Given the description of an element on the screen output the (x, y) to click on. 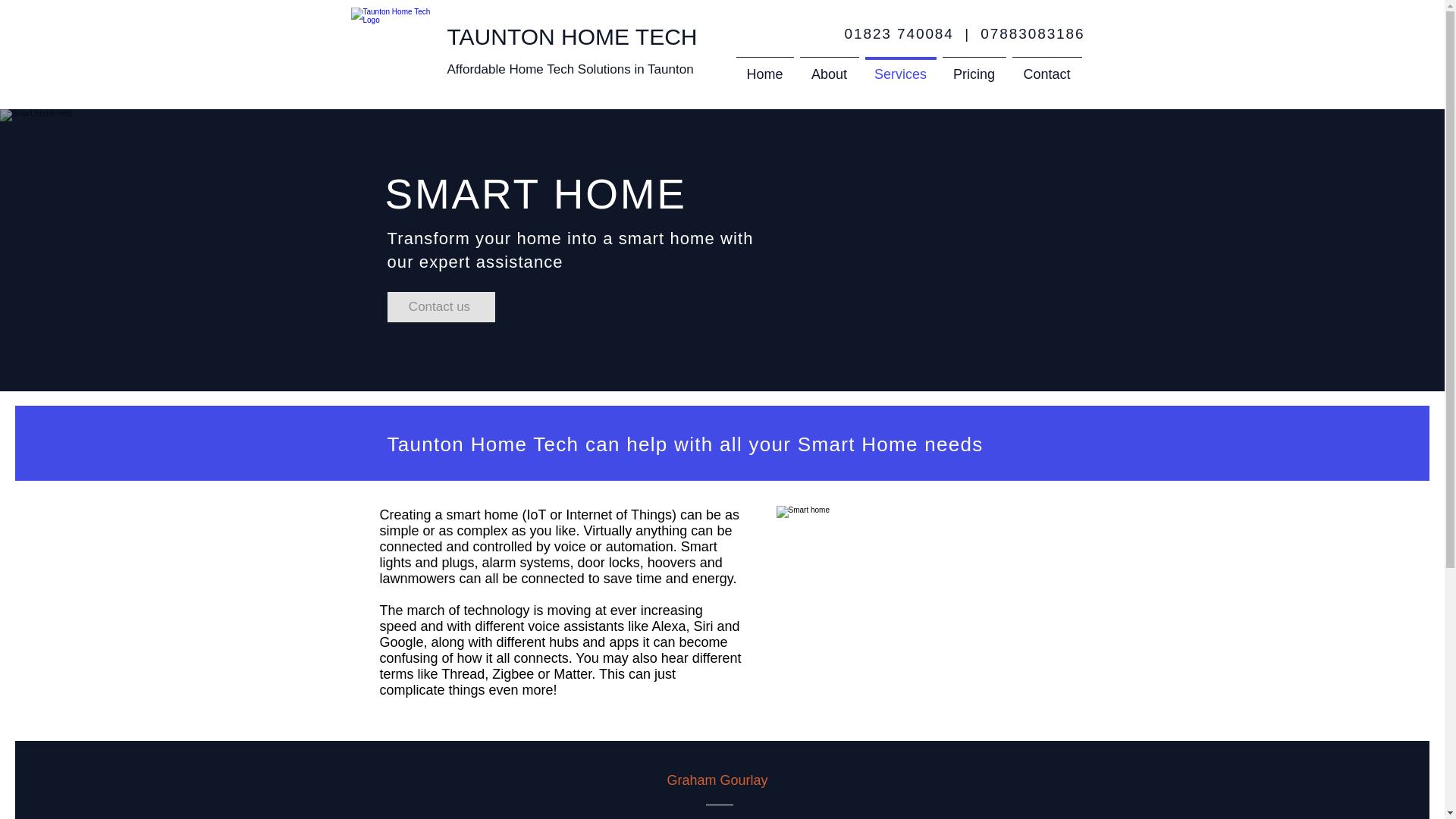
Contact (1046, 67)
About (828, 67)
Services (900, 67)
Contact us (441, 306)
Help with home technology (397, 53)
Pricing (974, 67)
Home (764, 67)
07883083186 (1031, 33)
